Given the description of an element on the screen output the (x, y) to click on. 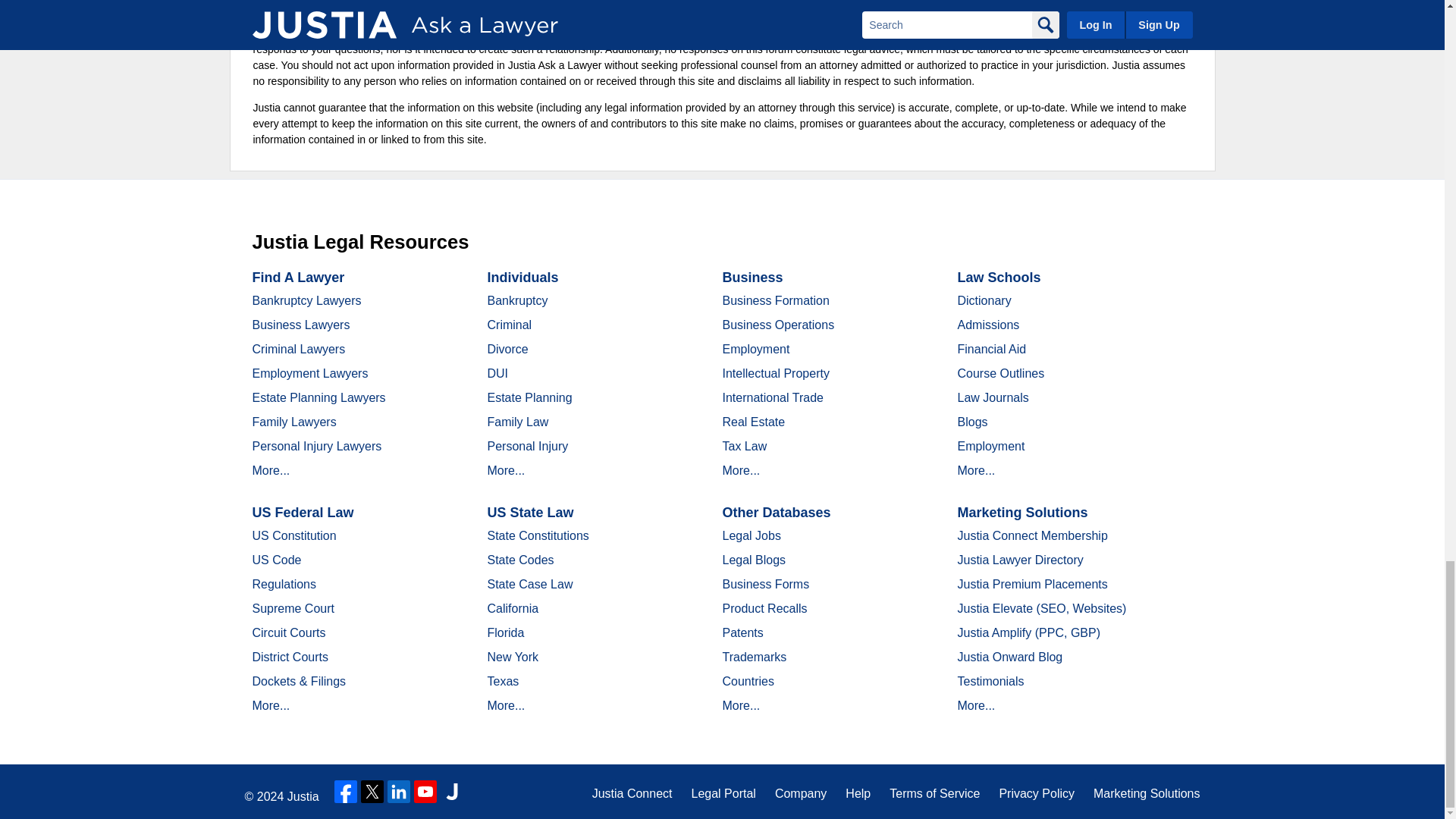
YouTube (424, 791)
Twitter (372, 791)
Facebook (345, 791)
Justia Lawyer Directory (452, 791)
LinkedIn (398, 791)
